Given the description of an element on the screen output the (x, y) to click on. 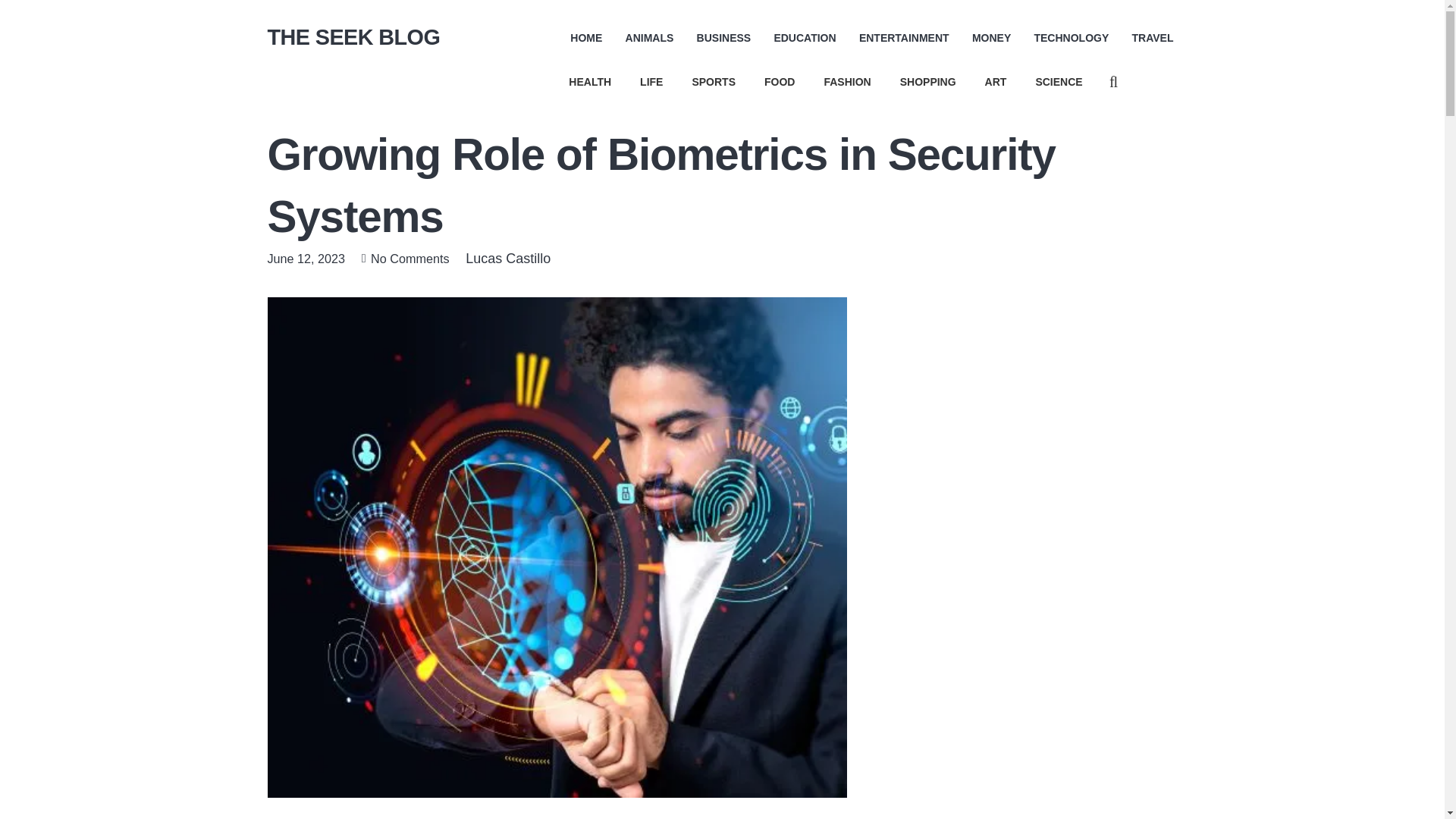
SHOPPING (928, 81)
MONEY (991, 37)
No Comments (409, 258)
SCIENCE (1058, 81)
HEALTH (590, 81)
EDUCATION (805, 37)
THE SEEK BLOG (352, 37)
TRAVEL (1152, 37)
FASHION (847, 81)
SPORTS (713, 81)
